Given the description of an element on the screen output the (x, y) to click on. 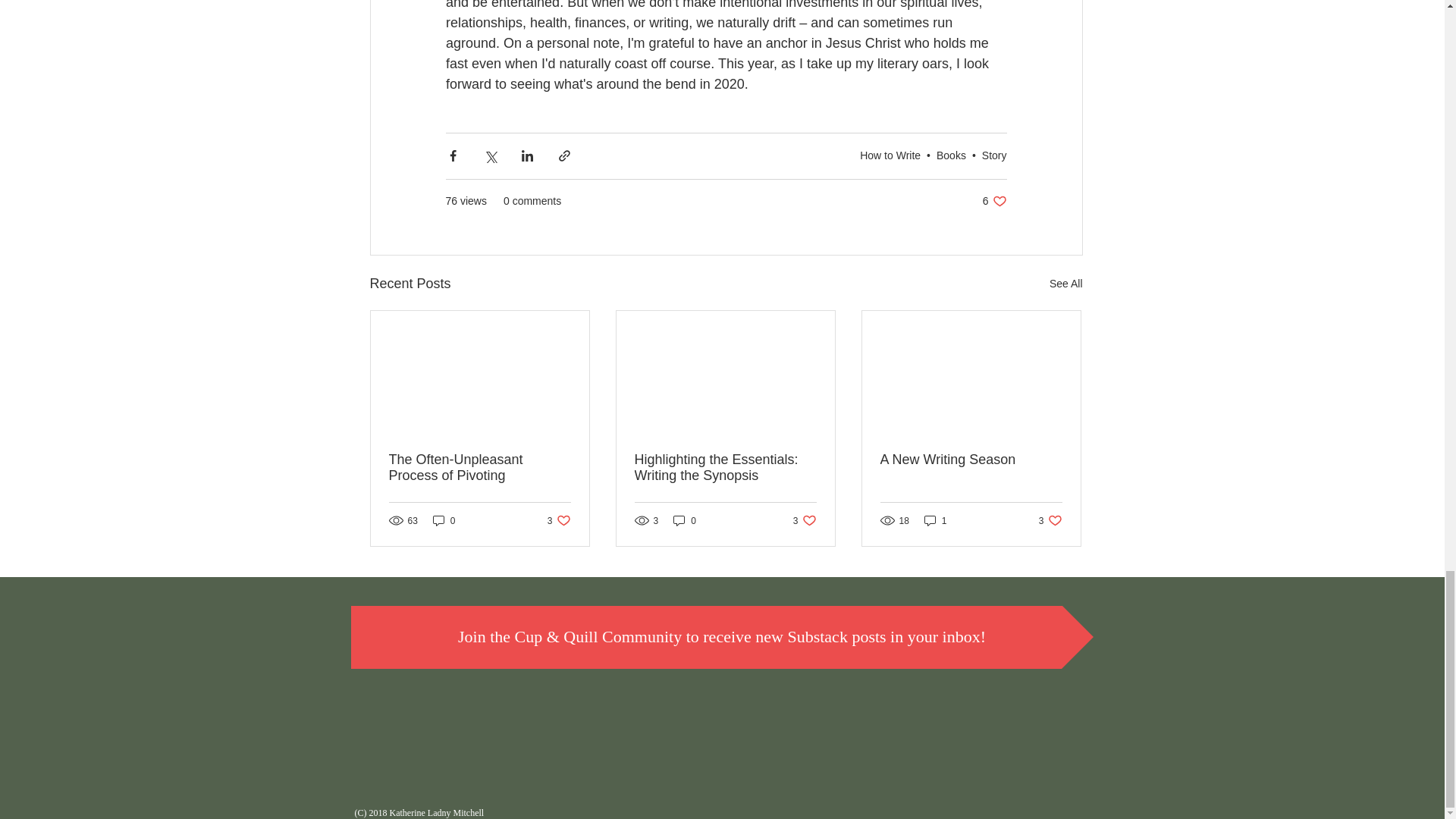
The Often-Unpleasant Process of Pivoting (994, 201)
See All (479, 468)
How to Write (1066, 283)
Books (558, 520)
Twitter Follow (890, 155)
Story (951, 155)
0 (748, 711)
